Given the description of an element on the screen output the (x, y) to click on. 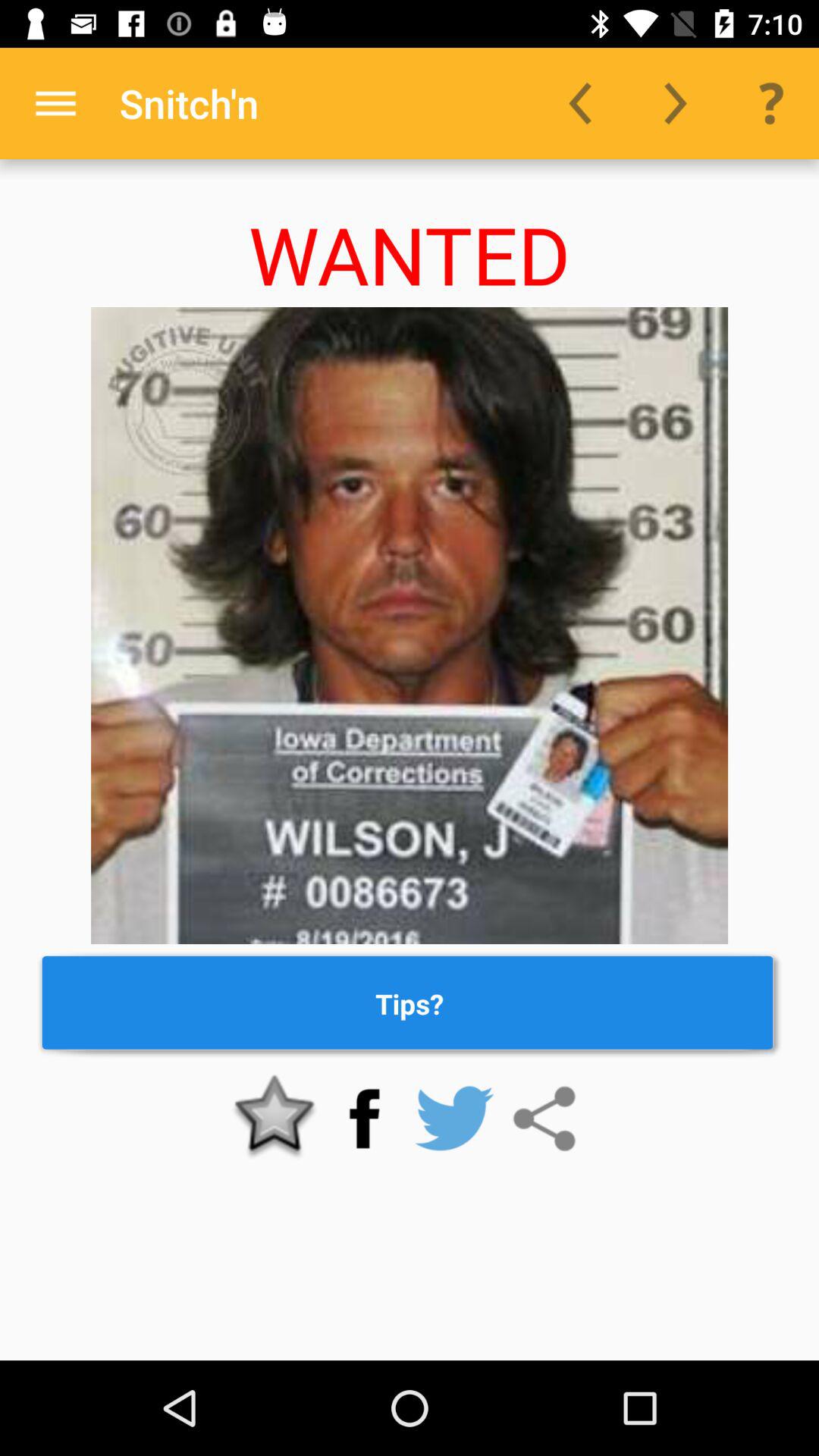
facebook page (364, 1118)
